Given the description of an element on the screen output the (x, y) to click on. 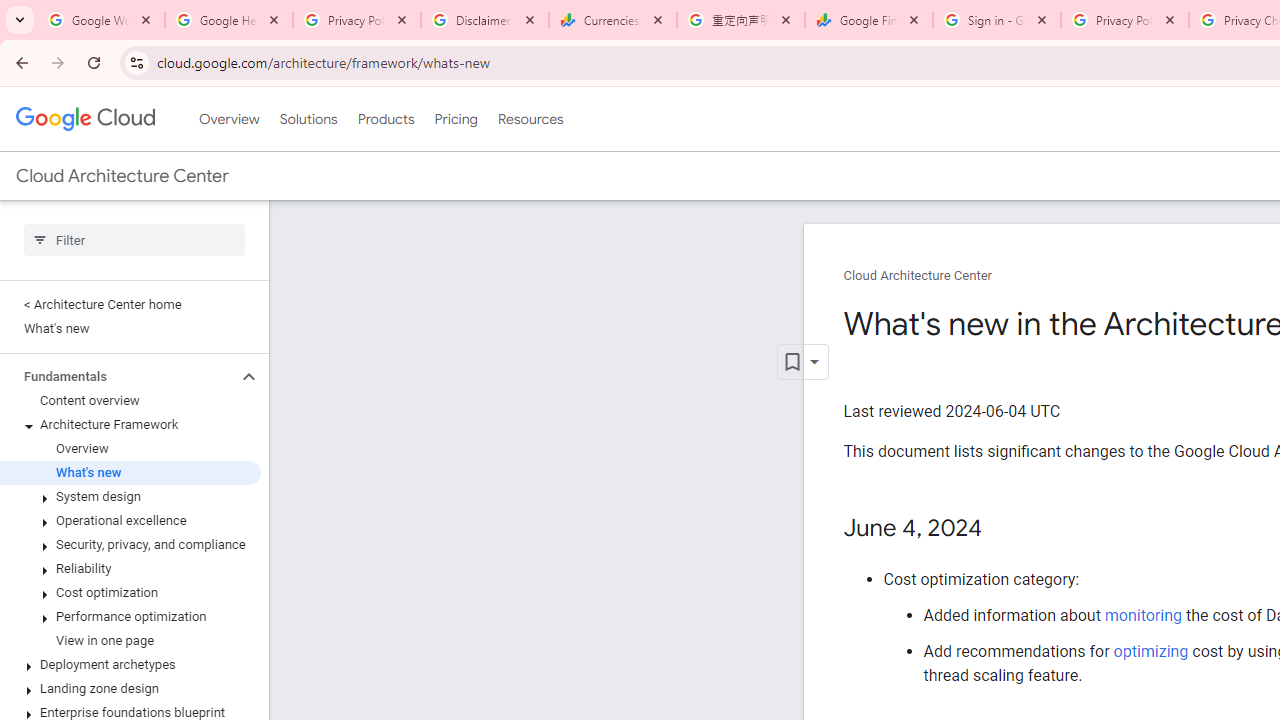
Fundamentals (118, 376)
Security, privacy, and compliance (130, 544)
Architecture Framework (130, 425)
Cost optimization (130, 592)
Resources (530, 119)
optimizing (1151, 651)
Performance optimization (130, 616)
System design (130, 497)
Copy link to this section: June 4, 2024 (1001, 529)
Open dropdown (802, 362)
Pricing (455, 119)
